Given the description of an element on the screen output the (x, y) to click on. 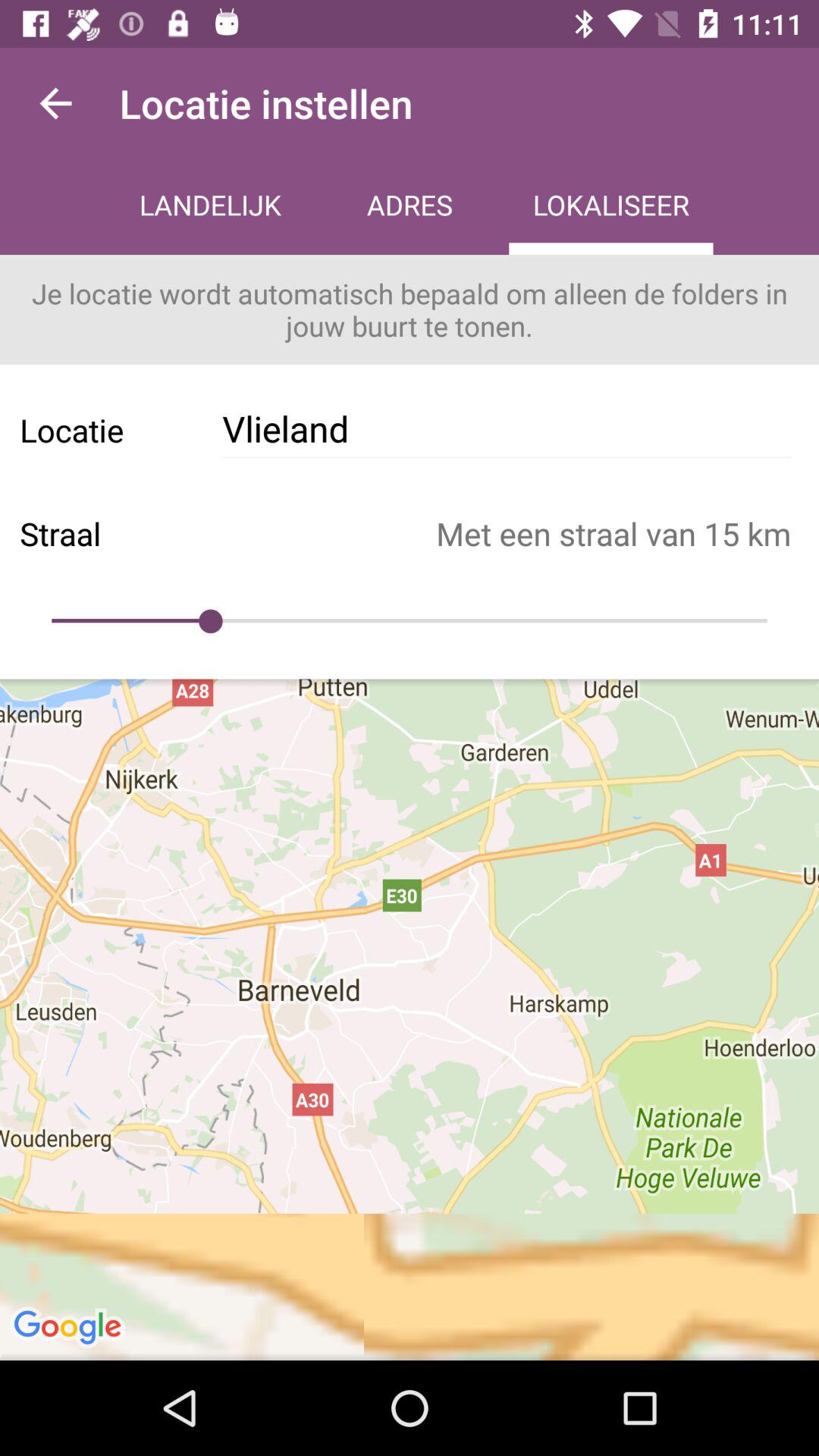
turn off icon next to the landelijk icon (55, 103)
